Given the description of an element on the screen output the (x, y) to click on. 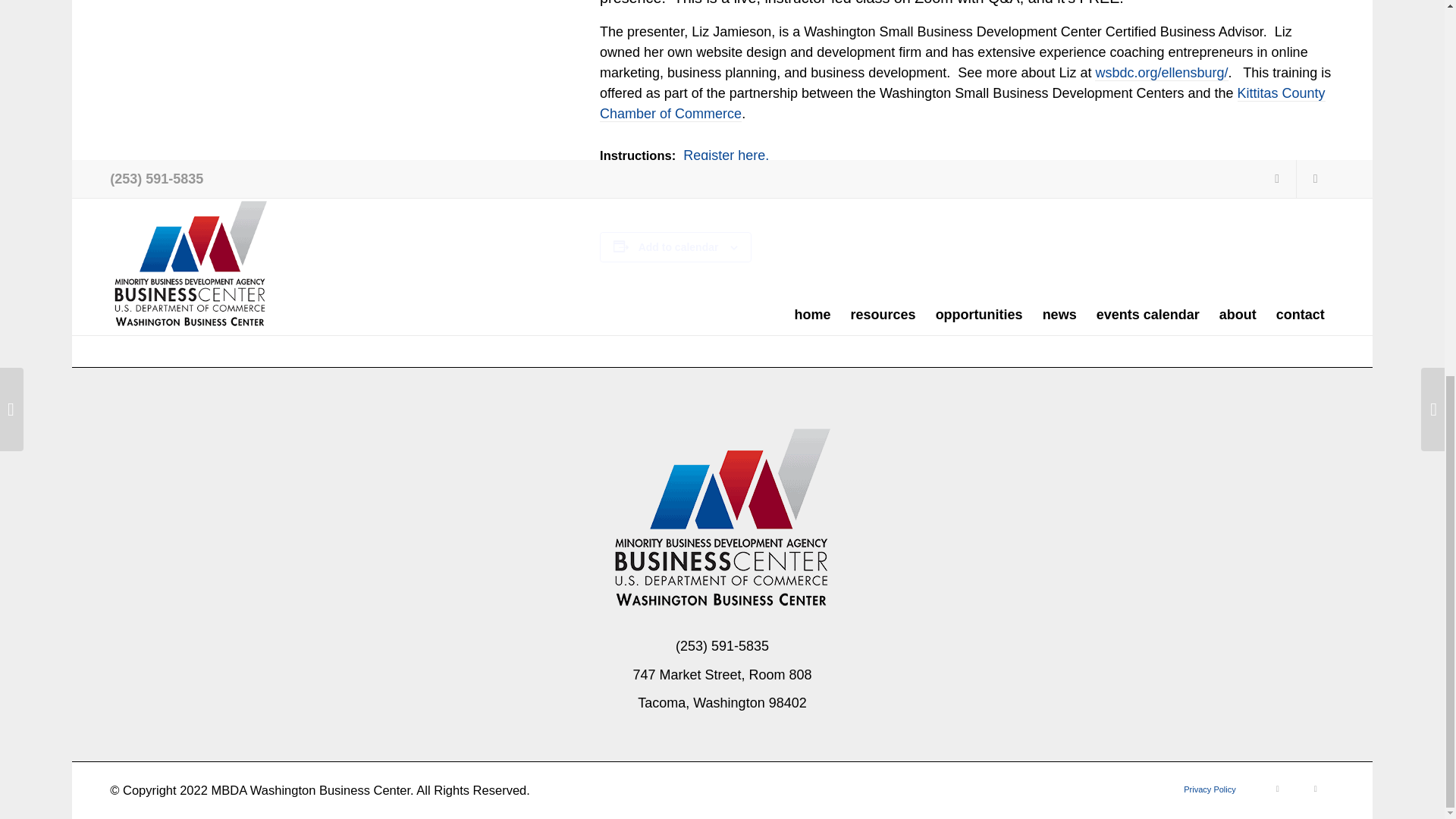
Privacy Policy (1208, 788)
Register here. (725, 155)
Facebook (1278, 788)
Add to calendar (679, 246)
